Given the description of an element on the screen output the (x, y) to click on. 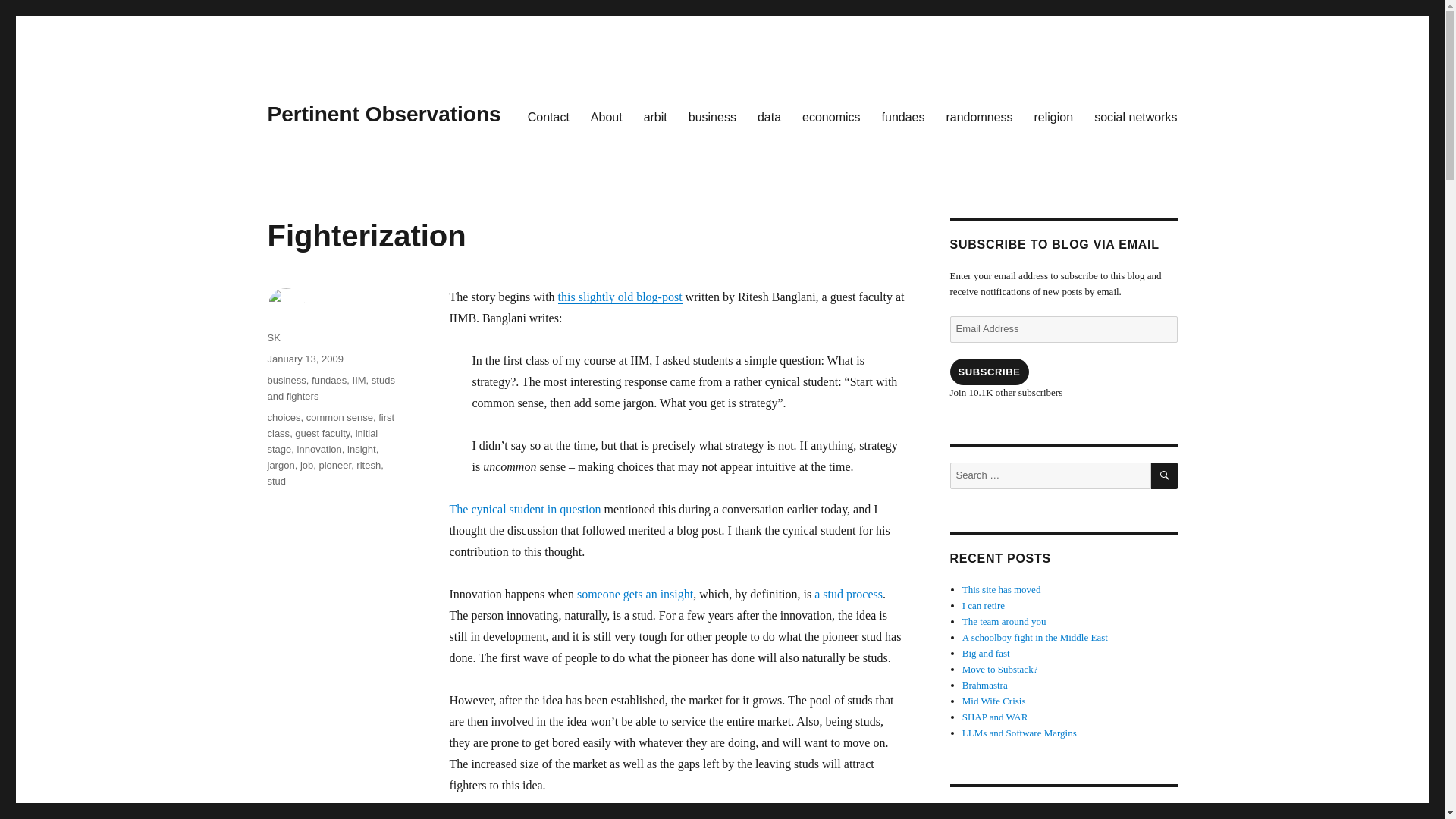
choices (282, 417)
guest faculty (322, 432)
business (712, 116)
About (606, 116)
religion (1053, 116)
fundaes (903, 116)
The cynical student in question (523, 508)
social networks (1135, 116)
fundaes (328, 379)
January 13, 2009 (304, 358)
this slightly old blog-post (619, 296)
pioneer (334, 464)
IIM (359, 379)
common sense (338, 417)
first class (330, 424)
